Given the description of an element on the screen output the (x, y) to click on. 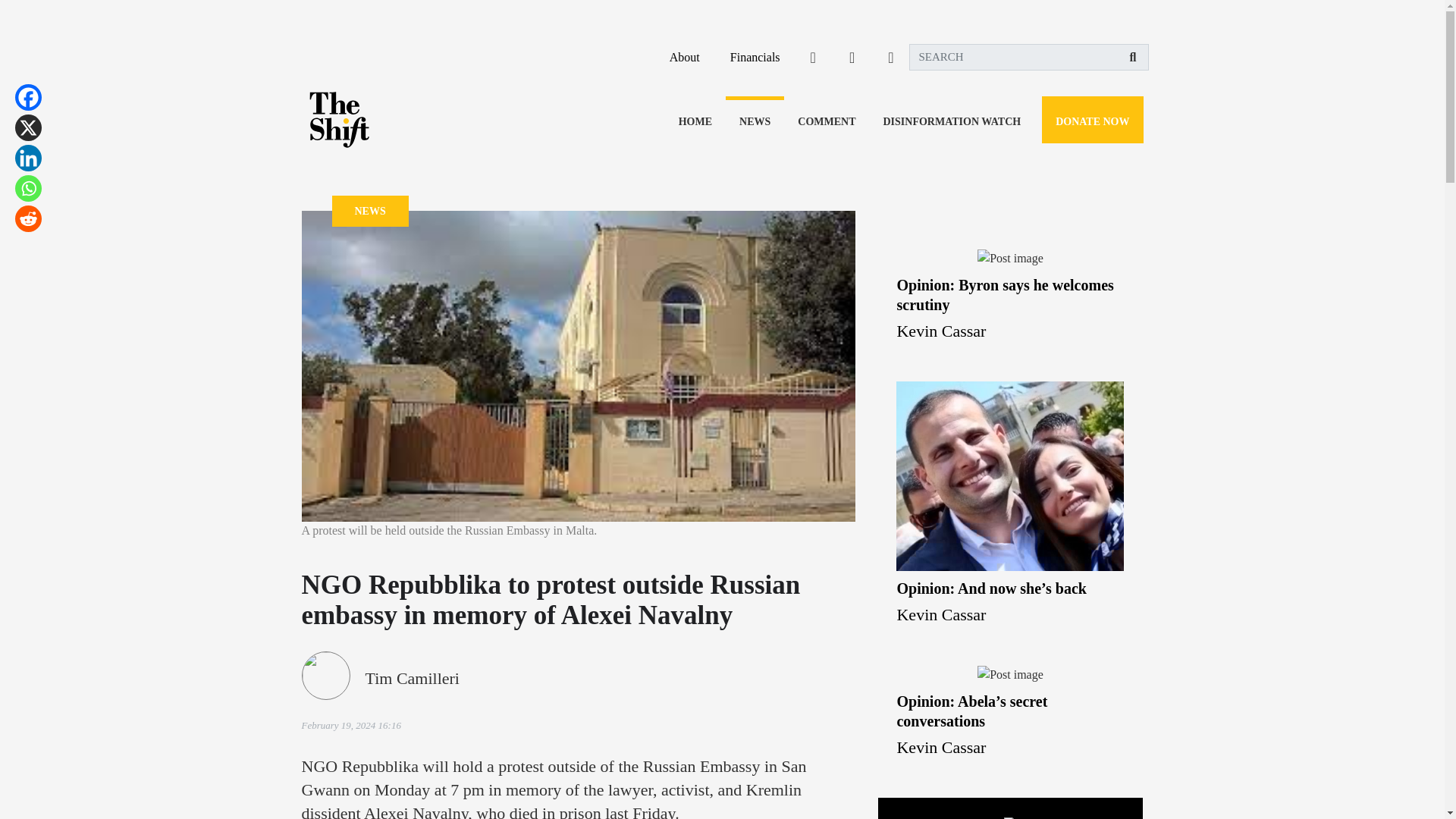
HOME (694, 121)
Comment (826, 121)
DONATE NOW (1092, 121)
Facebook (28, 97)
DISINFORMATION WATCH (951, 121)
Tim Camilleri (412, 678)
Disinformation Watch (951, 121)
NEWS (754, 121)
About (684, 56)
Donate Now (1092, 121)
